Given the description of an element on the screen output the (x, y) to click on. 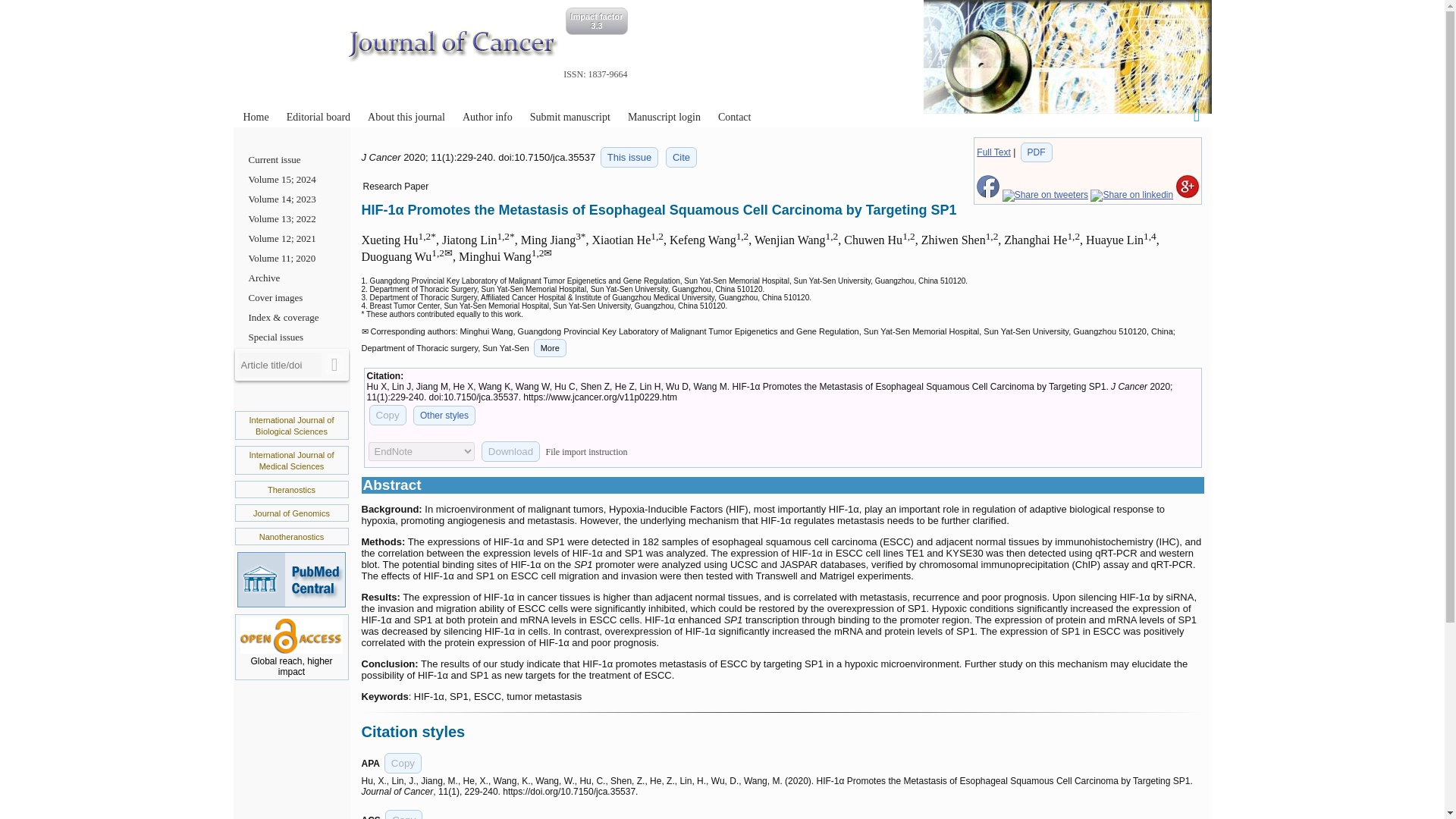
Volume 11; 2020 (291, 258)
About this journal (405, 117)
Editorial board (318, 117)
Share on linkedin (1131, 194)
Share on facebook (987, 194)
Download a file for citation software (510, 451)
Nanotheranostics (291, 536)
Cover images (291, 297)
Contact (734, 117)
Cite (681, 157)
